Given the description of an element on the screen output the (x, y) to click on. 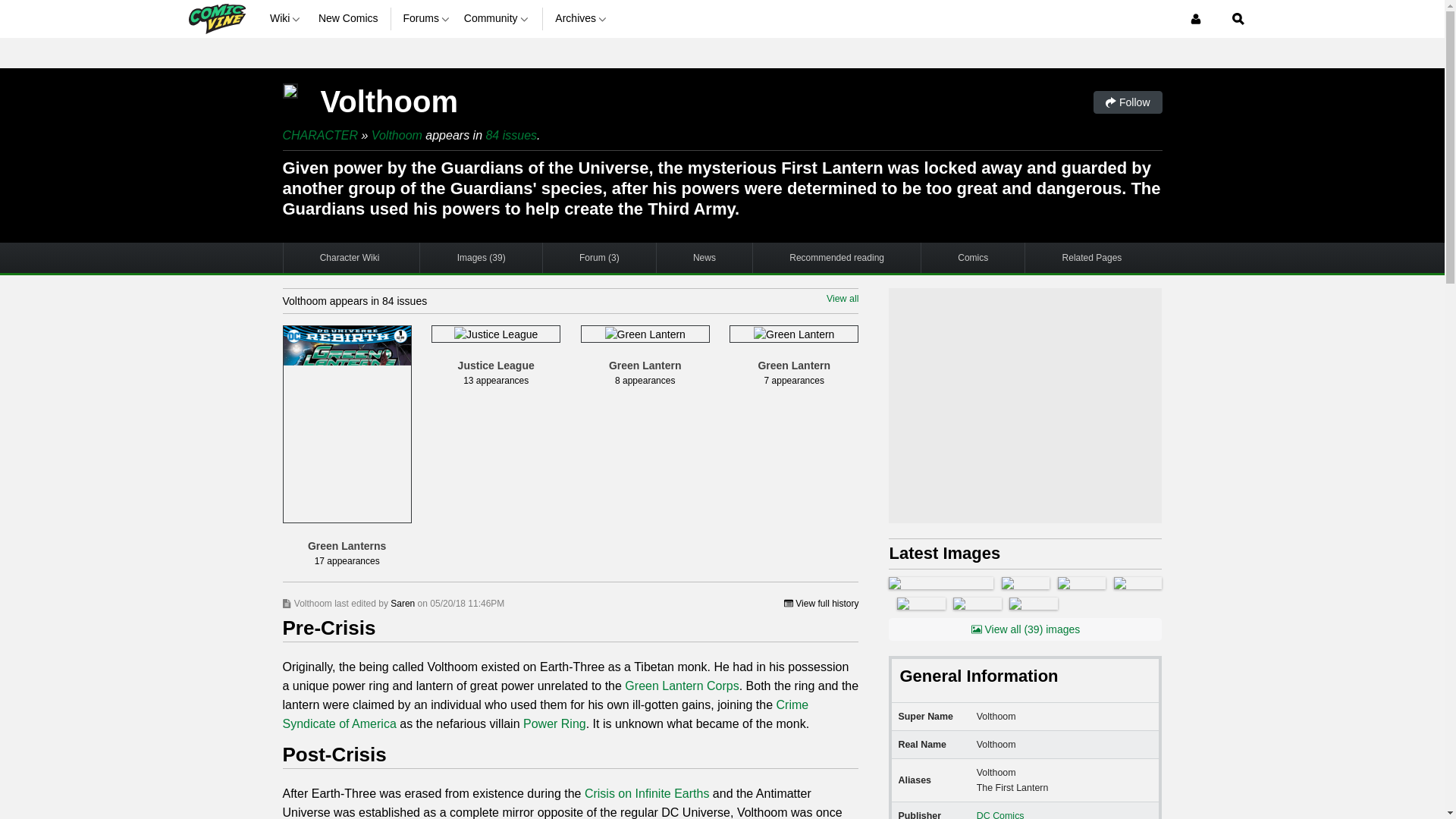
New Comics (348, 18)
Wiki (287, 18)
Forums (427, 18)
Comic Vine (215, 18)
Community (497, 18)
